Given the description of an element on the screen output the (x, y) to click on. 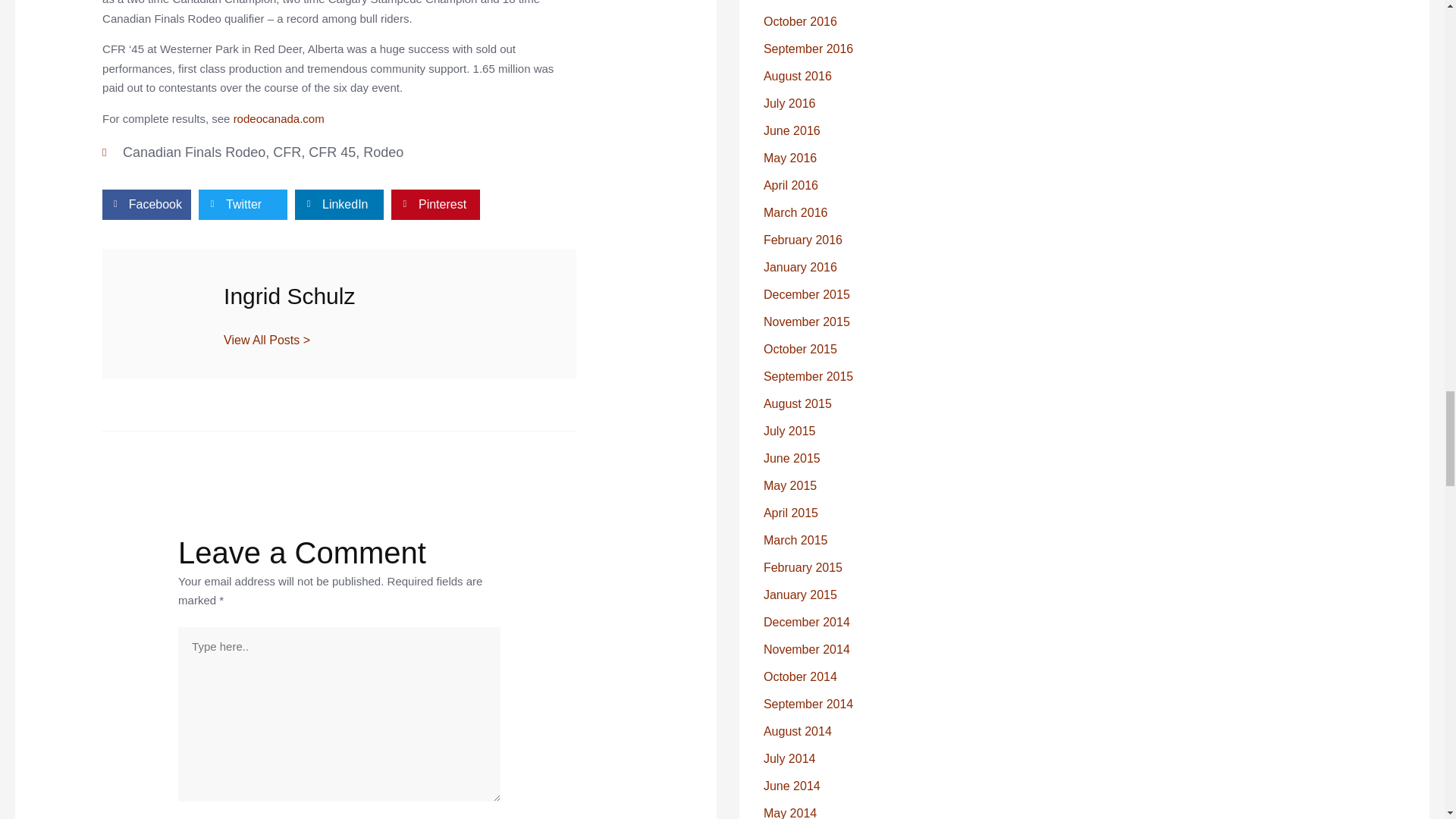
rodeocanada.com (278, 118)
Rodeo (382, 151)
CFR (287, 151)
Canadian Finals Rodeo (193, 151)
Ingrid Schulz (385, 295)
CFR 45 (331, 151)
